Given the description of an element on the screen output the (x, y) to click on. 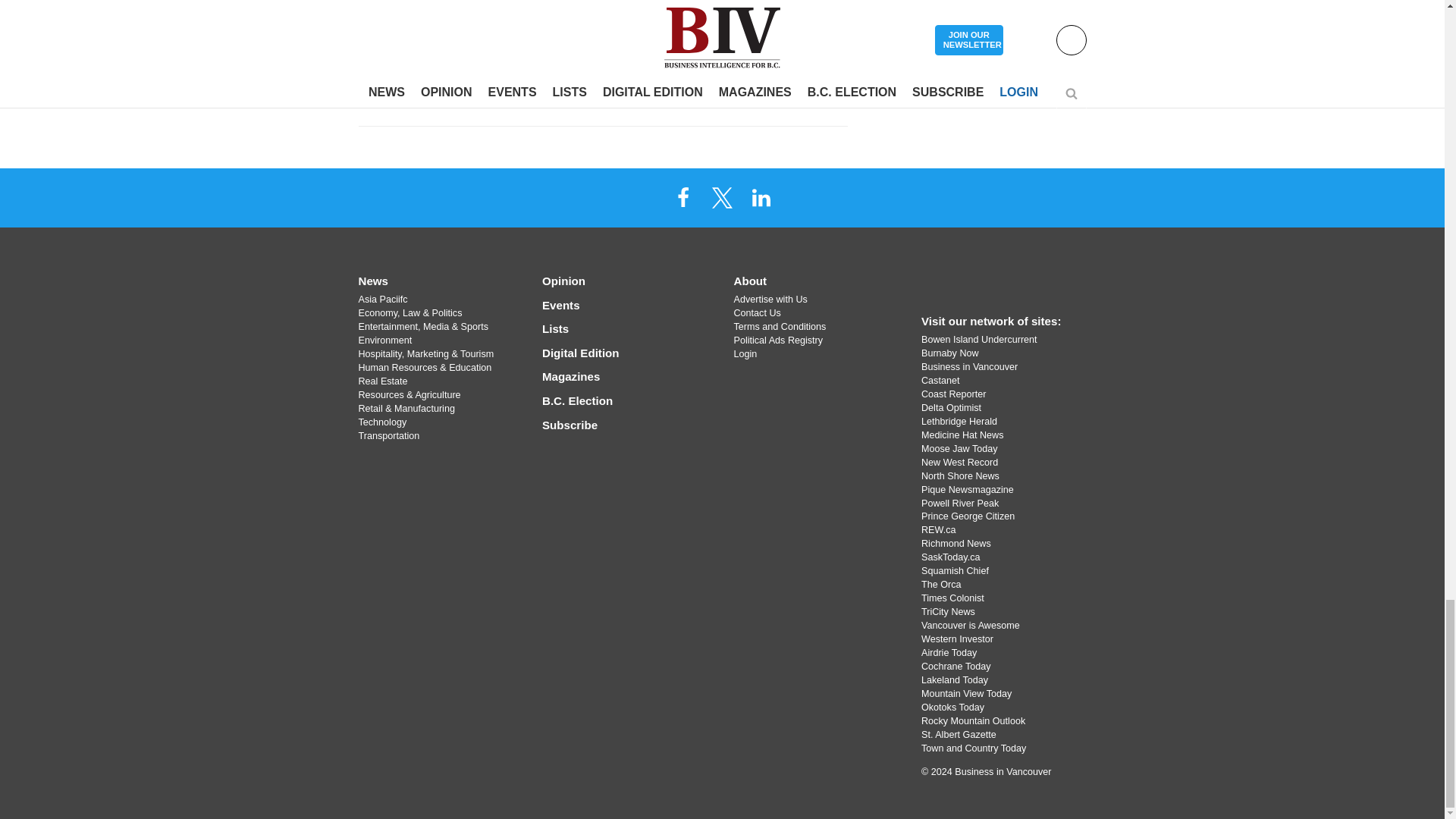
LinkedIn (760, 196)
X (721, 196)
Facebook (683, 196)
